Given the description of an element on the screen output the (x, y) to click on. 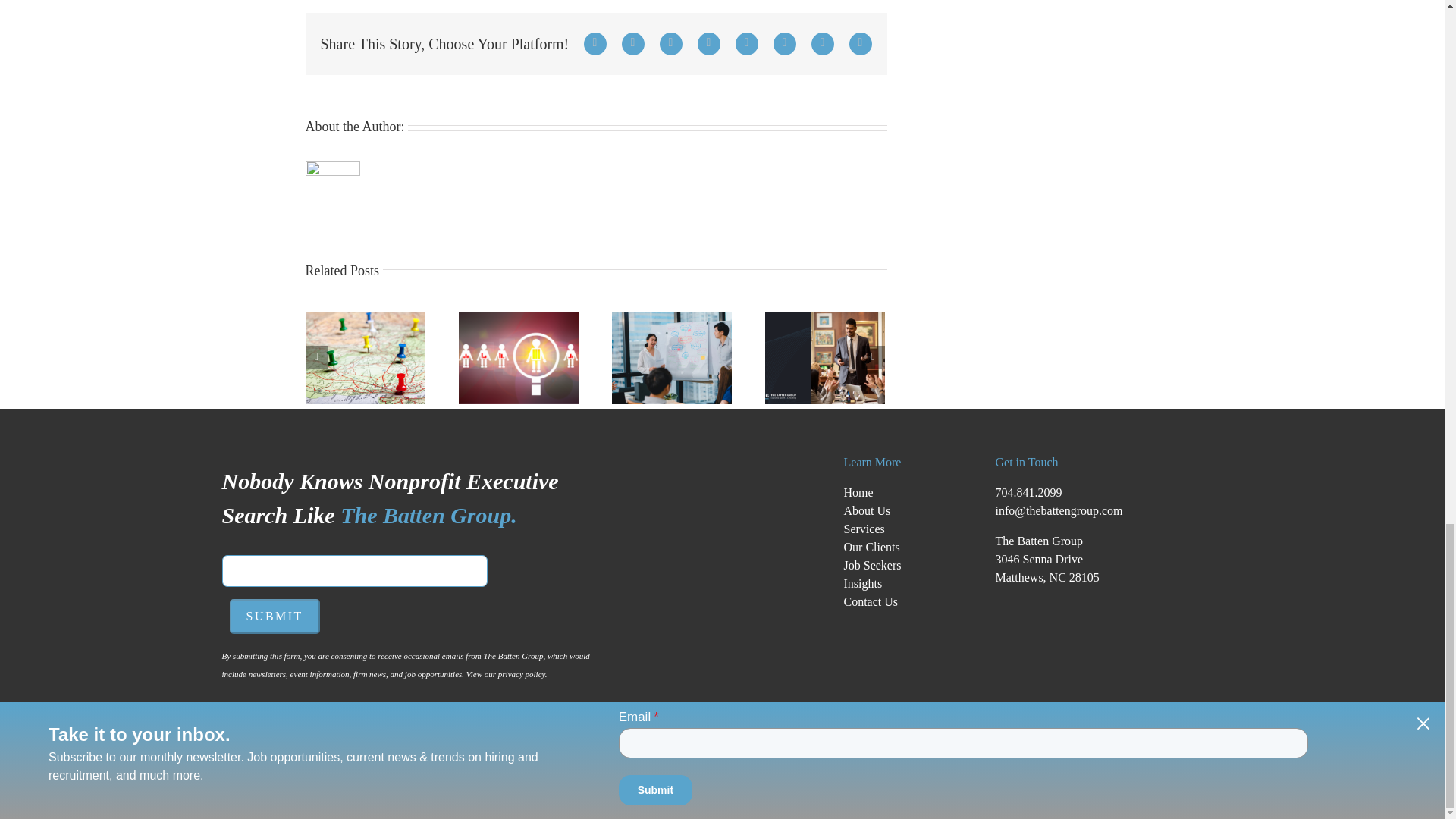
SUBMIT (273, 615)
